Given the description of an element on the screen output the (x, y) to click on. 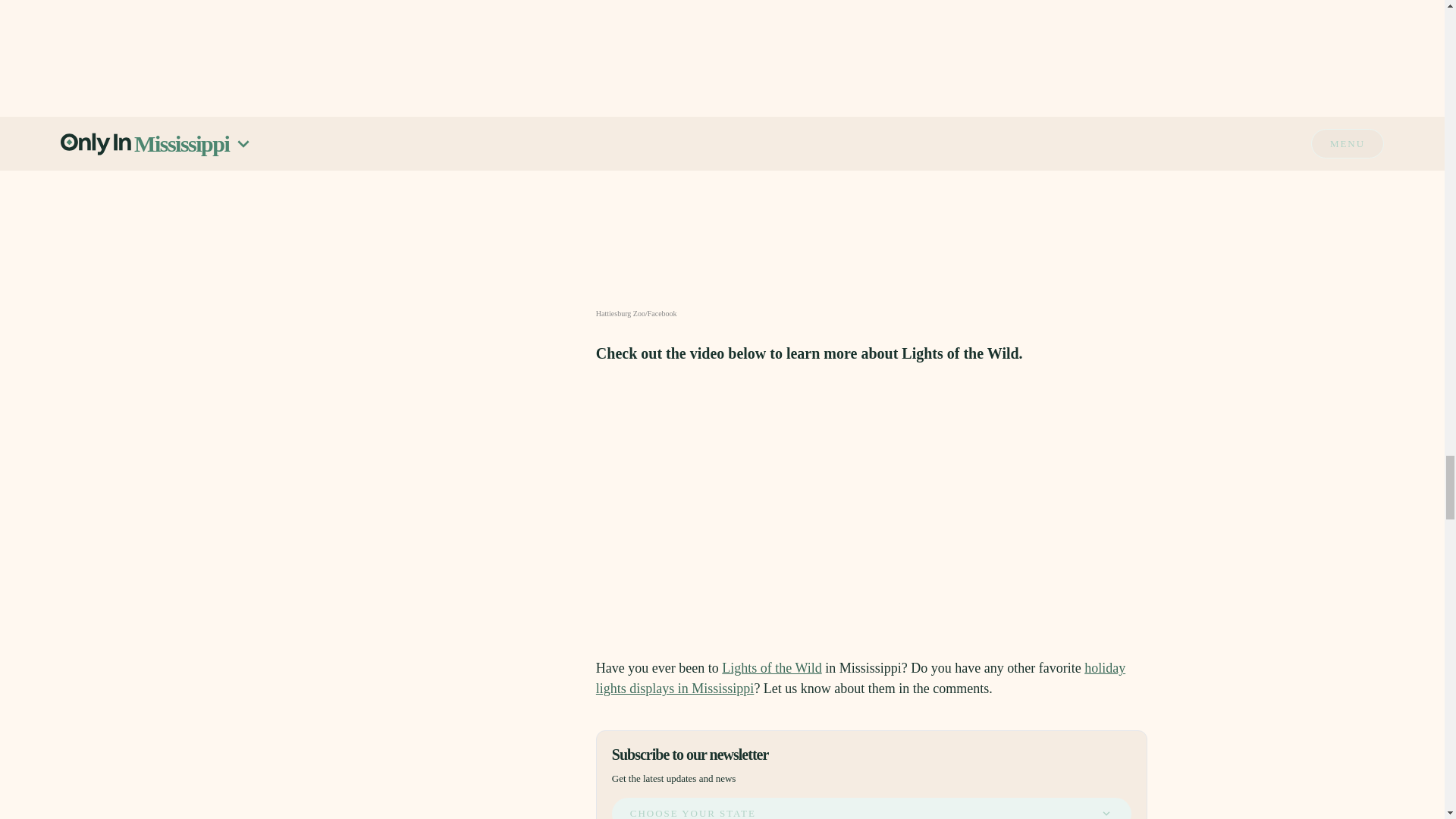
holiday lights displays in Mississippi (860, 678)
Lights of the Wild (771, 667)
CHOOSE YOUR STATE (871, 808)
